Given the description of an element on the screen output the (x, y) to click on. 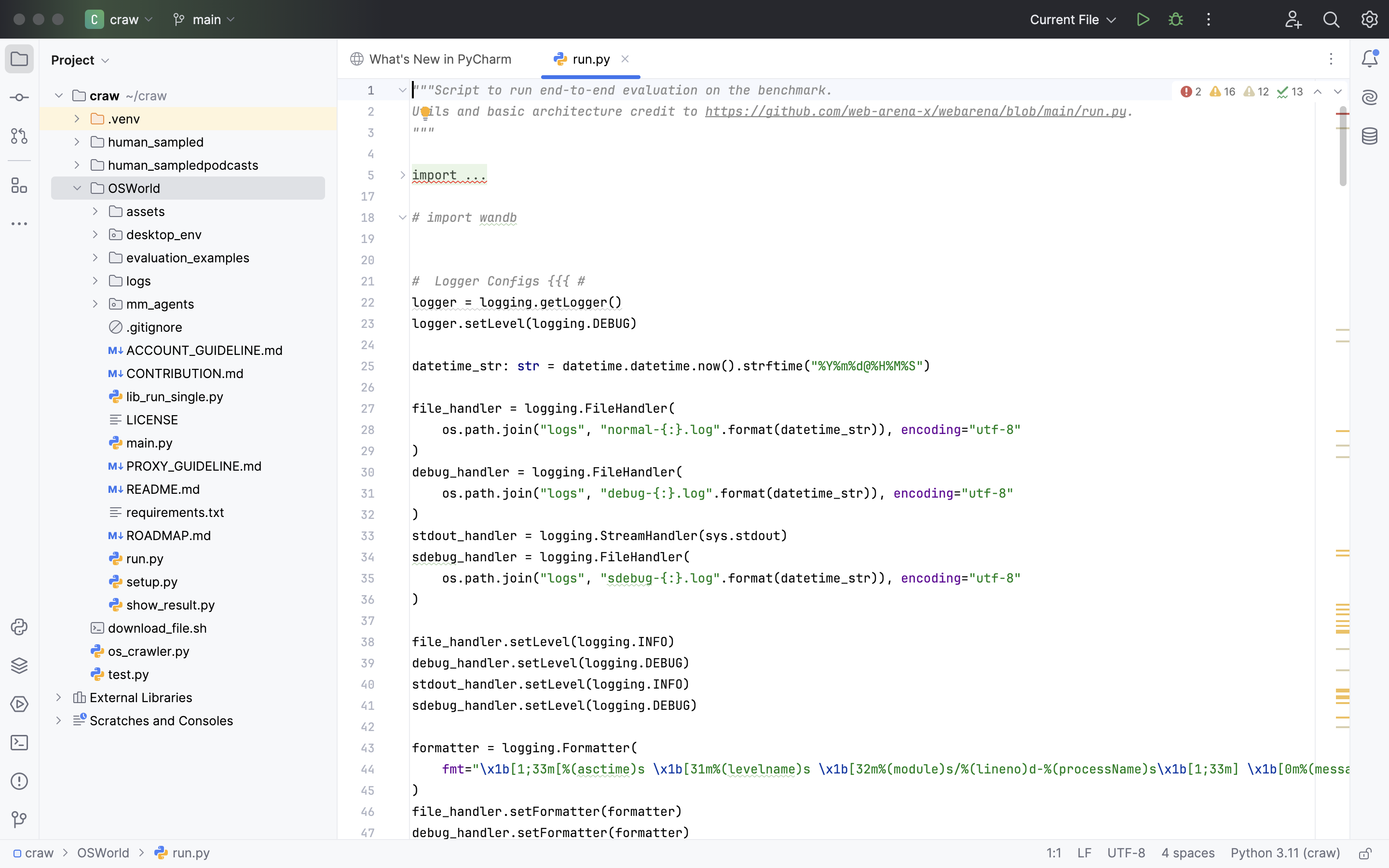
LICENSE Element type: AXStaticText (143, 419)
CONTRIBUTION.md Element type: AXStaticText (176, 372)
Make file read-only Element type: AXStaticText (1363, 854)
human_sampledpodcasts Element type: AXStaticText (174, 164)
logs Element type: AXStaticText (130, 280)
